Given the description of an element on the screen output the (x, y) to click on. 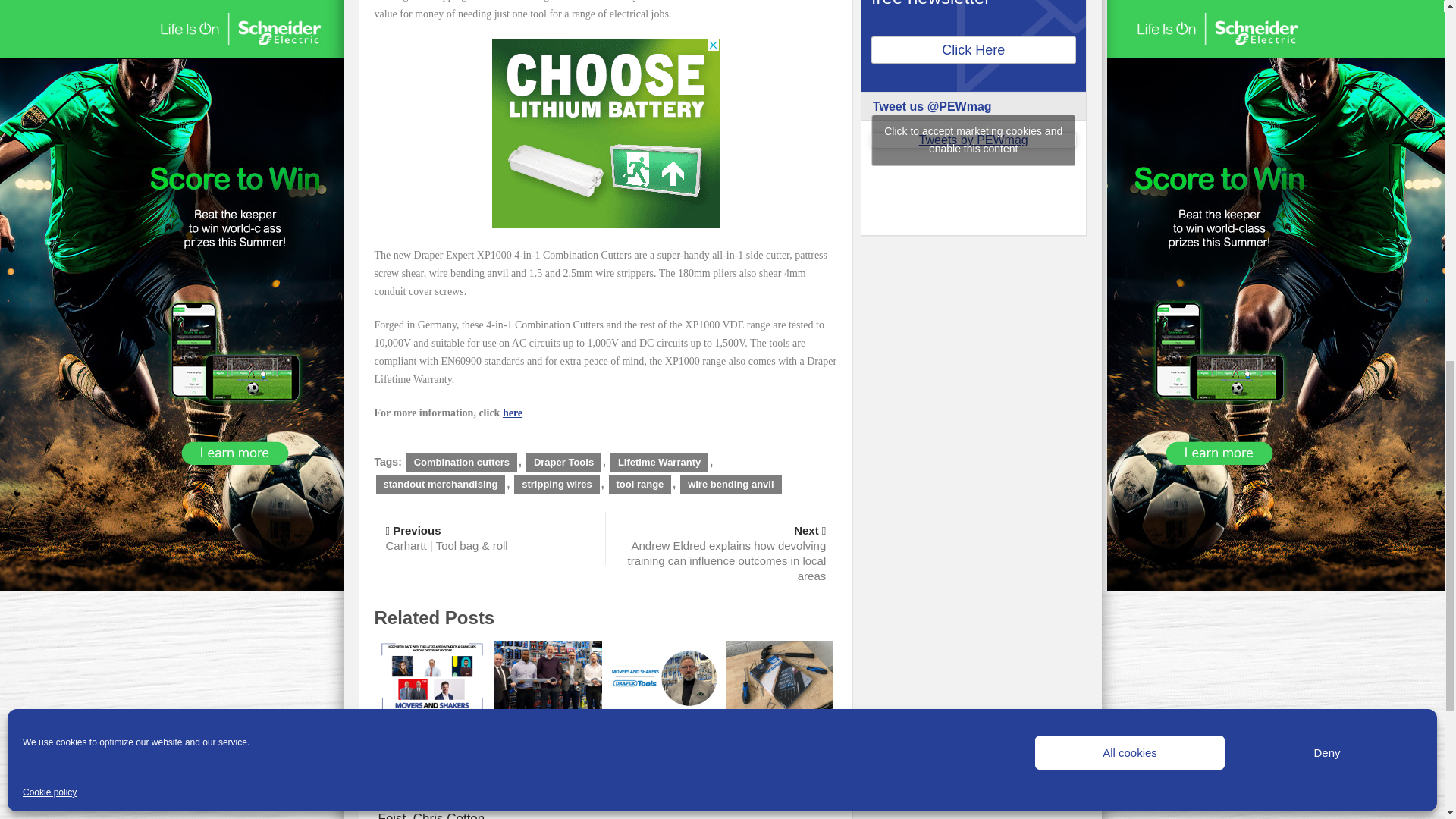
3rd party ad content (605, 134)
here (512, 412)
standout merchandising (440, 484)
stripping wires (555, 484)
tool range (639, 484)
Draper Tools (563, 462)
Combination cutters (461, 462)
wire bending anvil (729, 484)
Lifetime Warranty (658, 462)
